Given the description of an element on the screen output the (x, y) to click on. 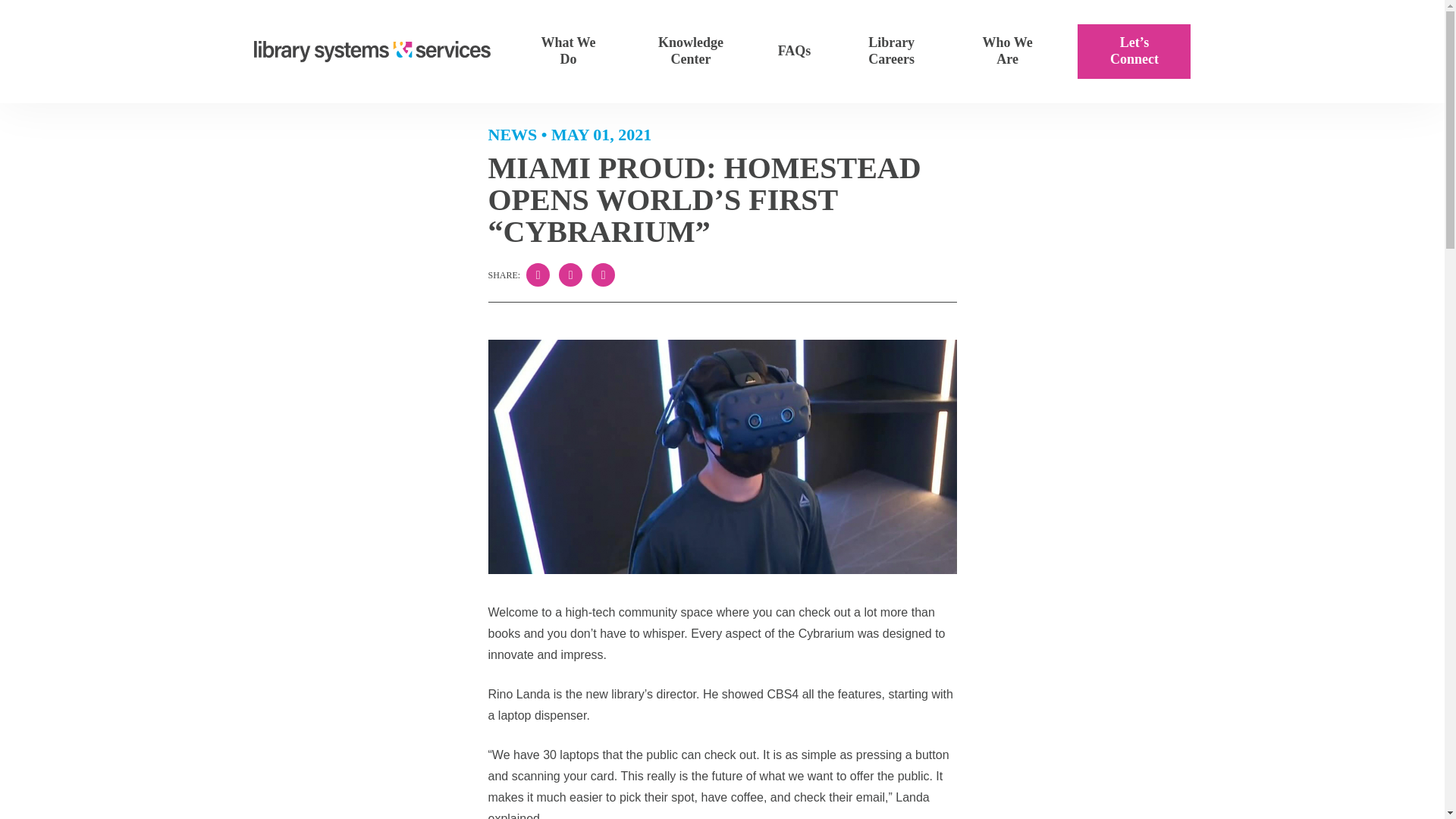
What We Do (568, 51)
Knowledge Center (690, 51)
Who We Are (1008, 51)
Library Careers (891, 51)
